Given the description of an element on the screen output the (x, y) to click on. 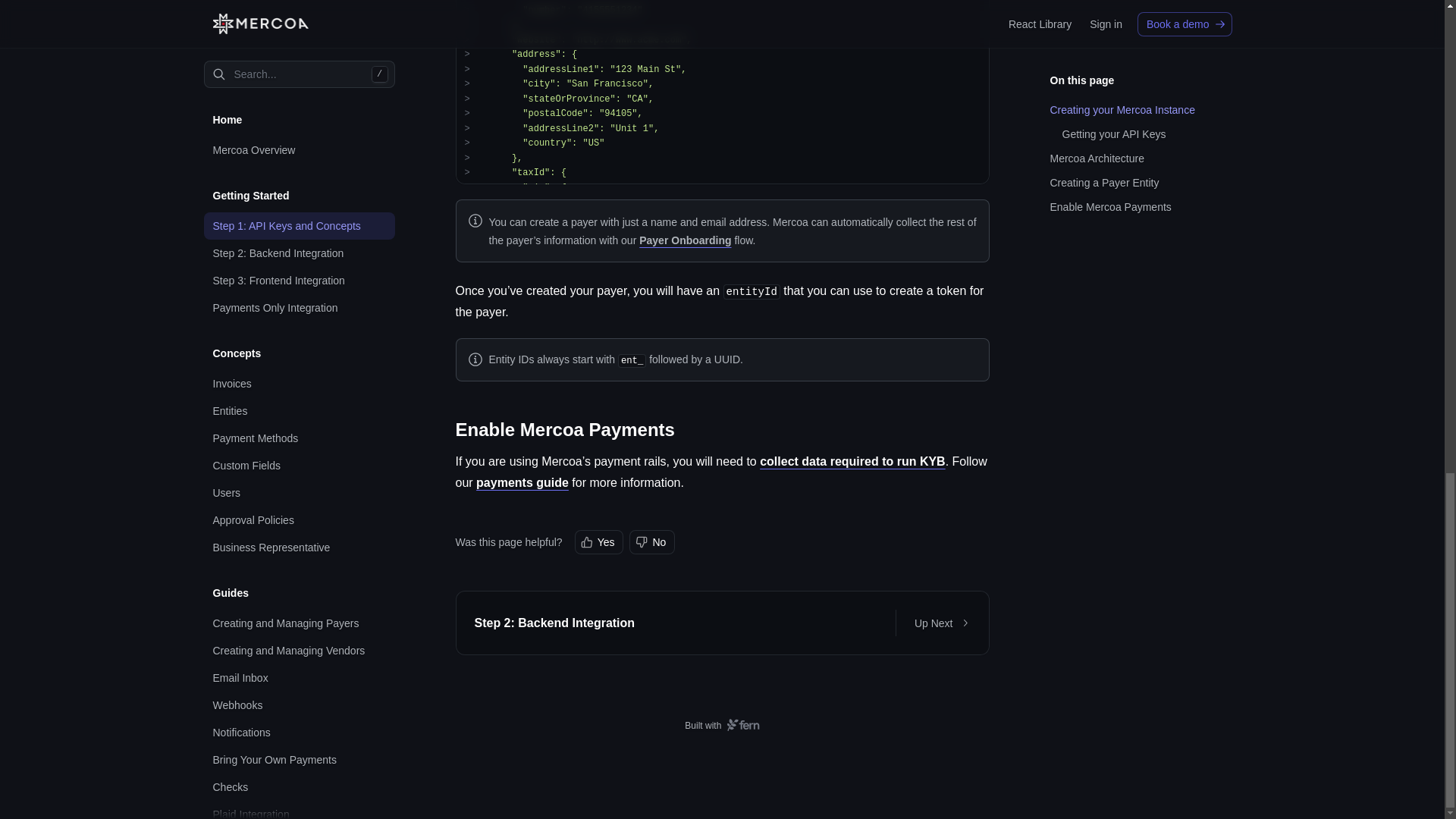
Entity Group (298, 25)
